Given the description of an element on the screen output the (x, y) to click on. 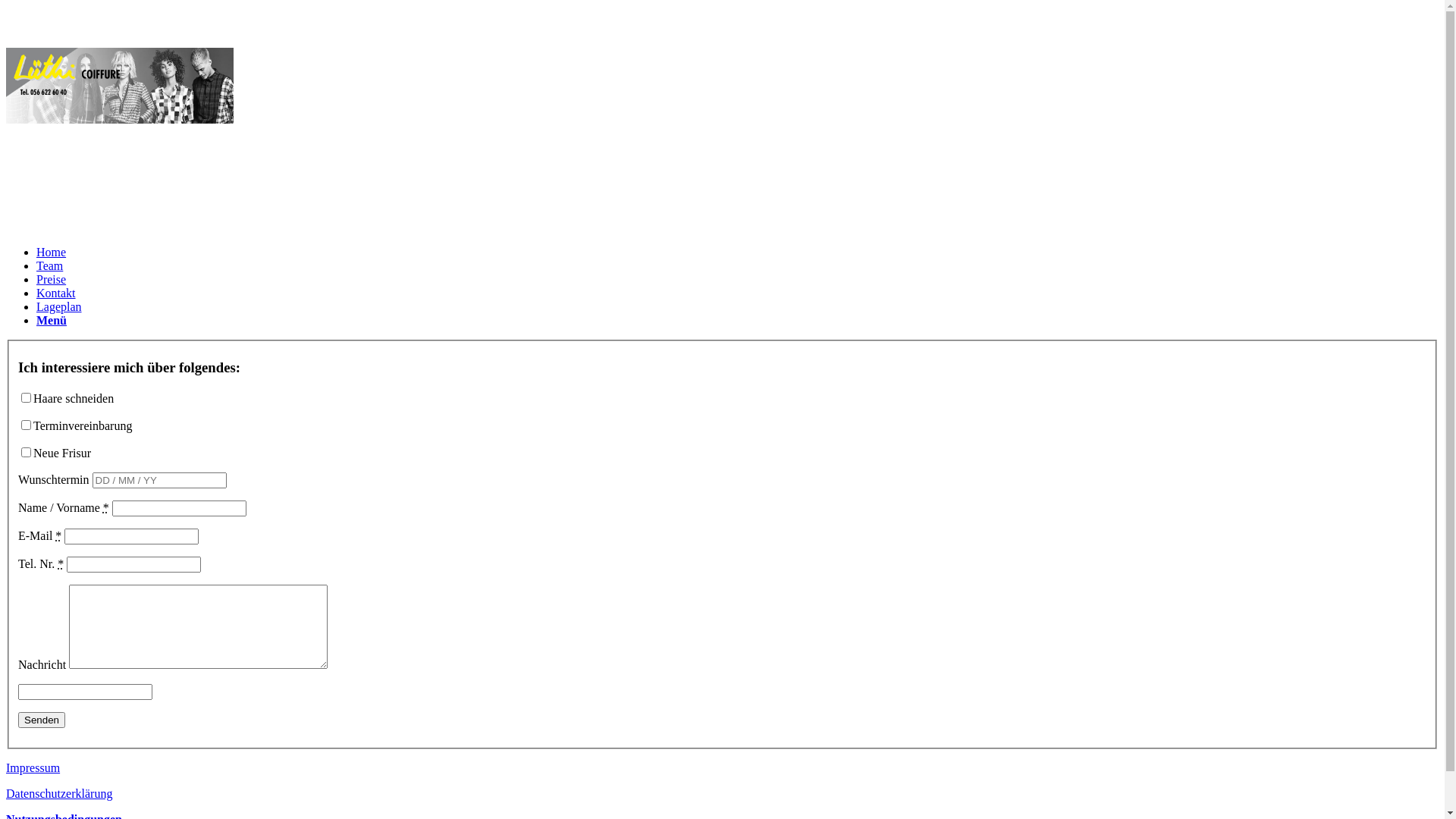
Lageplan Element type: text (58, 306)
Preise Element type: text (50, 279)
Senden Element type: text (41, 720)
Home Element type: text (50, 251)
Kontakt Element type: text (55, 292)
Impressum Element type: text (32, 767)
Team Element type: text (49, 265)
